Given the description of an element on the screen output the (x, y) to click on. 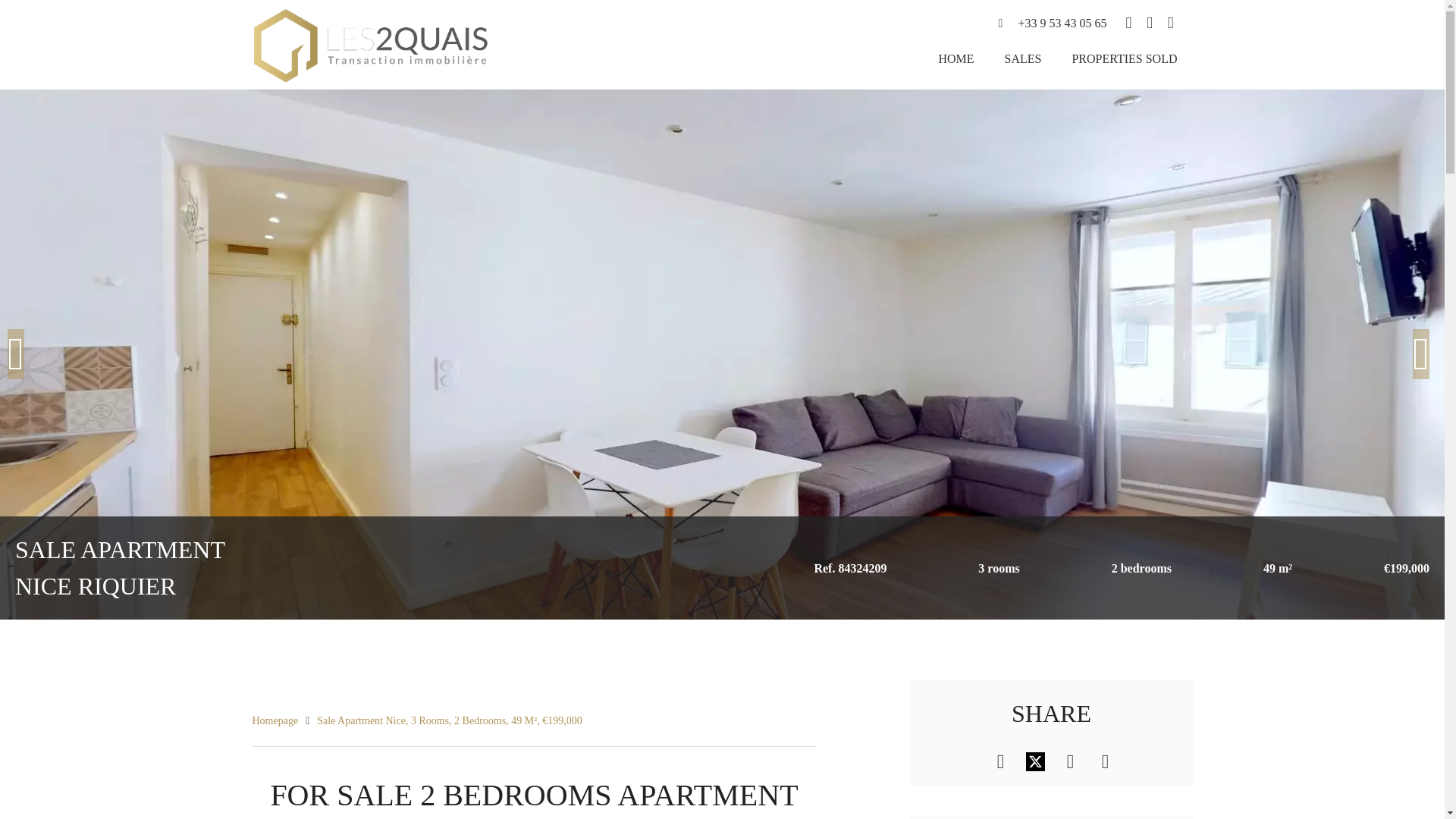
SALES (1023, 58)
Homepage (274, 720)
PROPERTIES SOLD (1123, 58)
HOME (955, 58)
